Given the description of an element on the screen output the (x, y) to click on. 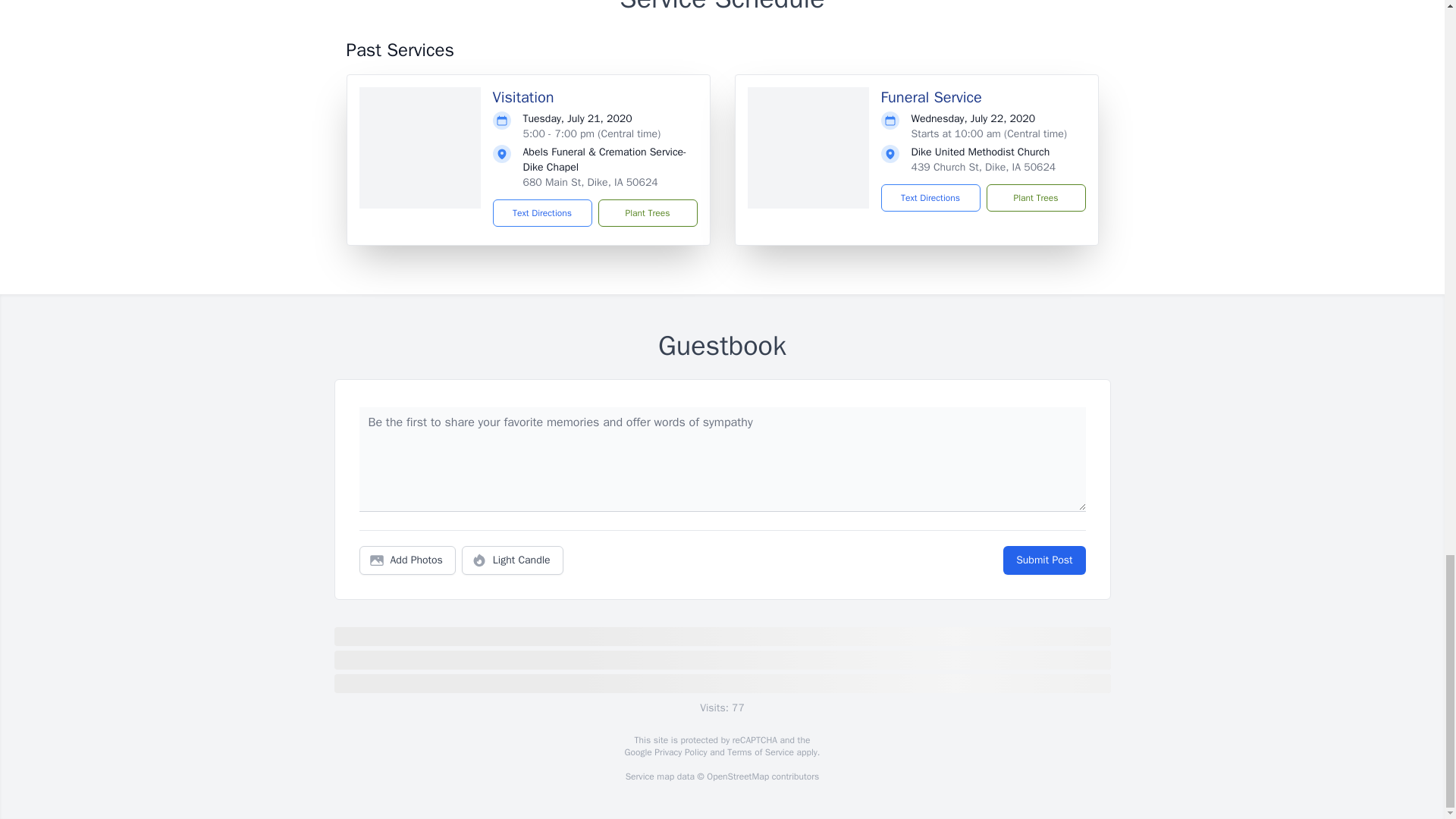
Text Directions (929, 197)
Plant Trees (646, 212)
Text Directions (542, 212)
Add Photos (407, 560)
Plant Trees (1034, 197)
Terms of Service (759, 752)
439 Church St, Dike, IA 50624 (984, 166)
680 Main St, Dike, IA 50624 (590, 182)
Light Candle (512, 560)
OpenStreetMap (737, 776)
